Given the description of an element on the screen output the (x, y) to click on. 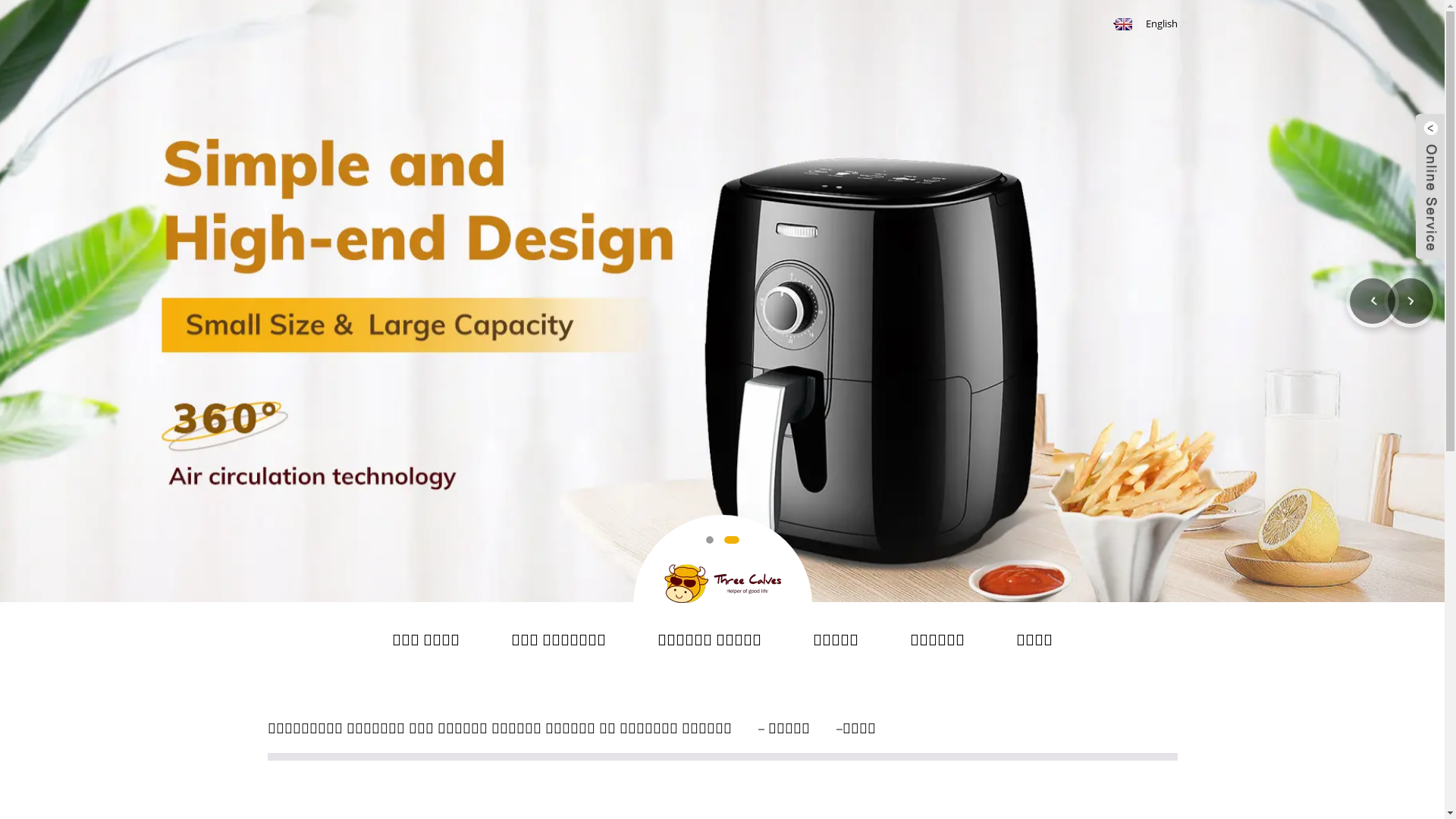
English Element type: text (1144, 23)
